Given the description of an element on the screen output the (x, y) to click on. 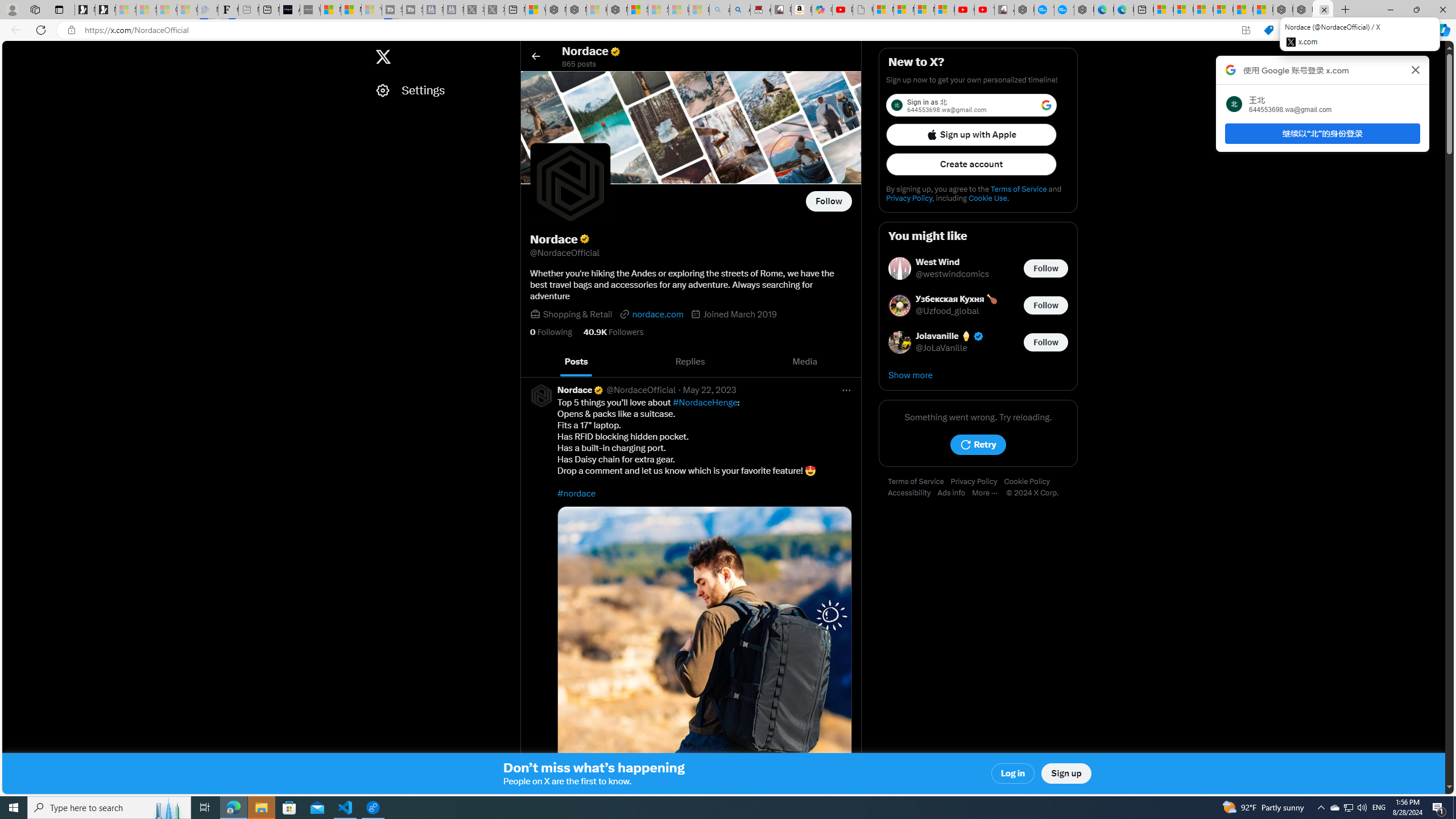
West Wind (952, 262)
Follow @NordaceOfficial (828, 201)
Address and search bar (658, 29)
What's the best AI voice generator? - voice.ai - Sleeping (309, 9)
Show more (978, 375)
Gloom - YouTube (964, 9)
Nordace - Summer Adventures 2024 (1302, 9)
The most popular Google 'how to' searches (1063, 9)
Square profile picture (541, 395)
Settings (441, 90)
More (989, 492)
Read aloud this page (Ctrl+Shift+U) (1291, 29)
Follow @westwindcomics (1045, 267)
